Given the description of an element on the screen output the (x, y) to click on. 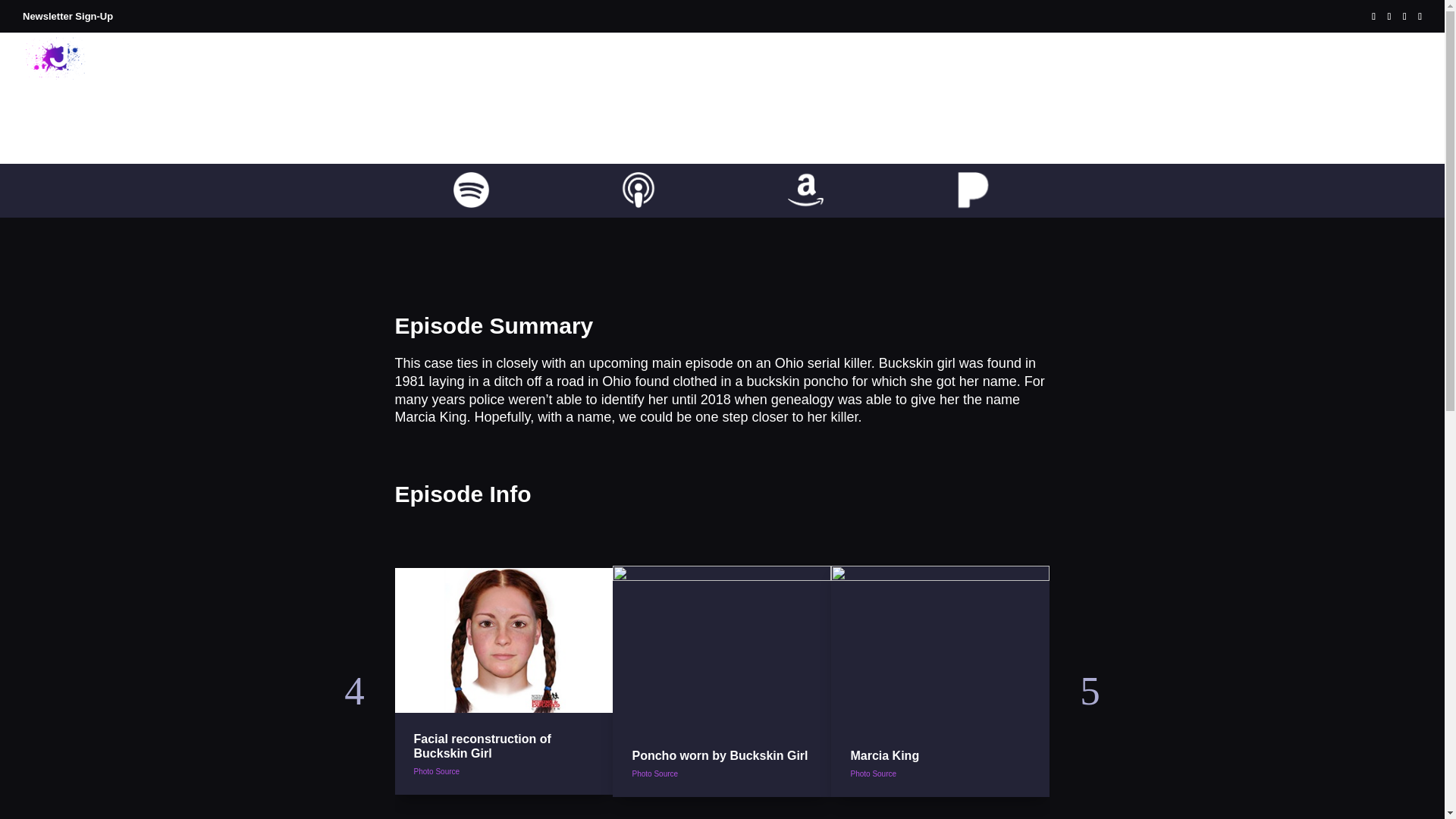
Extras (1201, 70)
Podcast - Spotify Icon (470, 189)
About Us (1008, 70)
Fan Club (1278, 70)
Episodes (1077, 70)
Podcast - Apple Icon (639, 189)
Podcast - Pandora Icon (973, 189)
Photo Source (654, 773)
Contact Us (1360, 70)
Newsletter Sign-Up (68, 16)
